Given the description of an element on the screen output the (x, y) to click on. 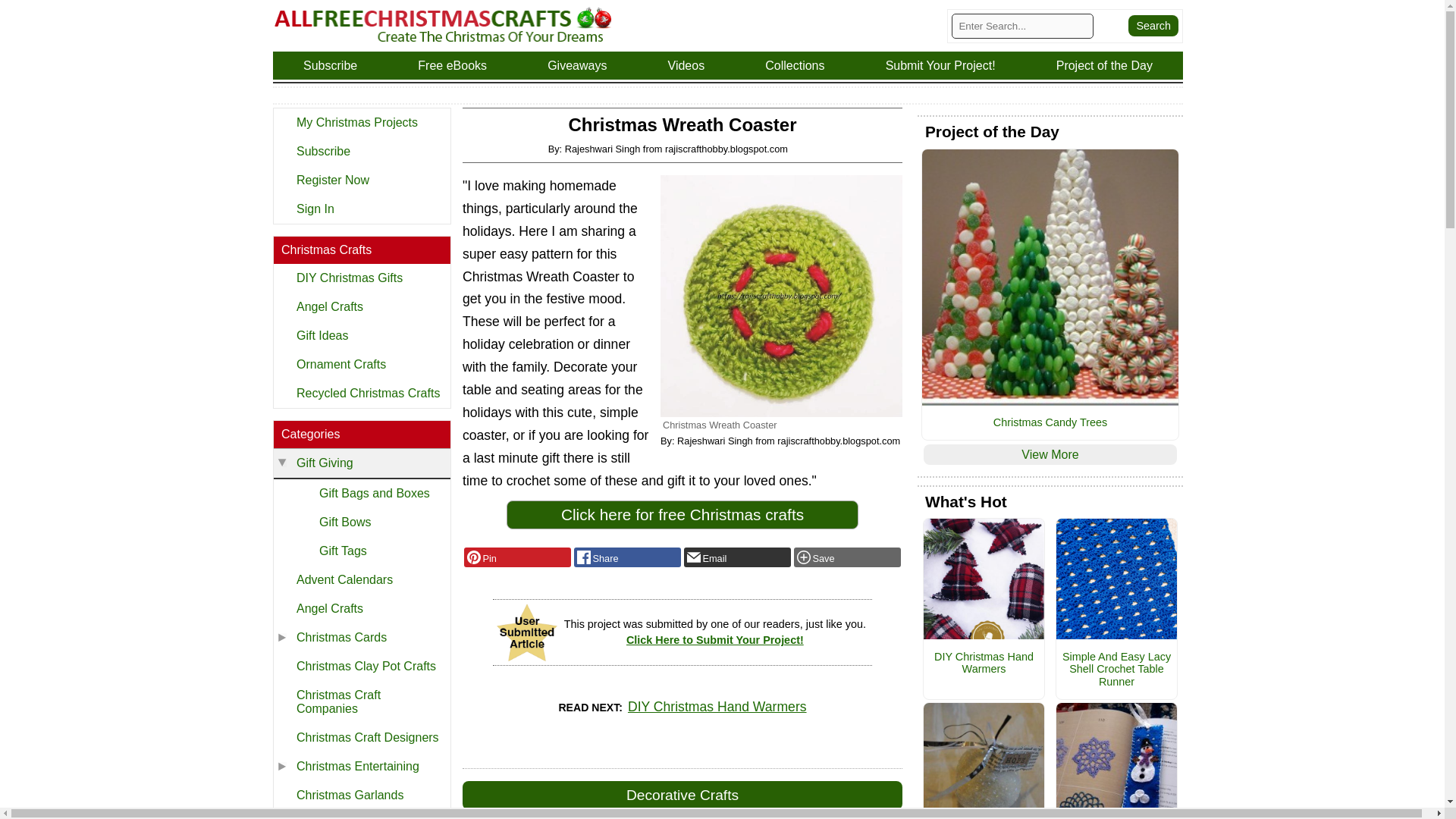
My Christmas Projects (361, 122)
Search (1152, 25)
Sign In (361, 208)
Email (737, 557)
Subscribe (361, 151)
Christmas Wreath Coaster (781, 295)
Facebook (627, 557)
Add (847, 557)
Register Now (361, 180)
